Given the description of an element on the screen output the (x, y) to click on. 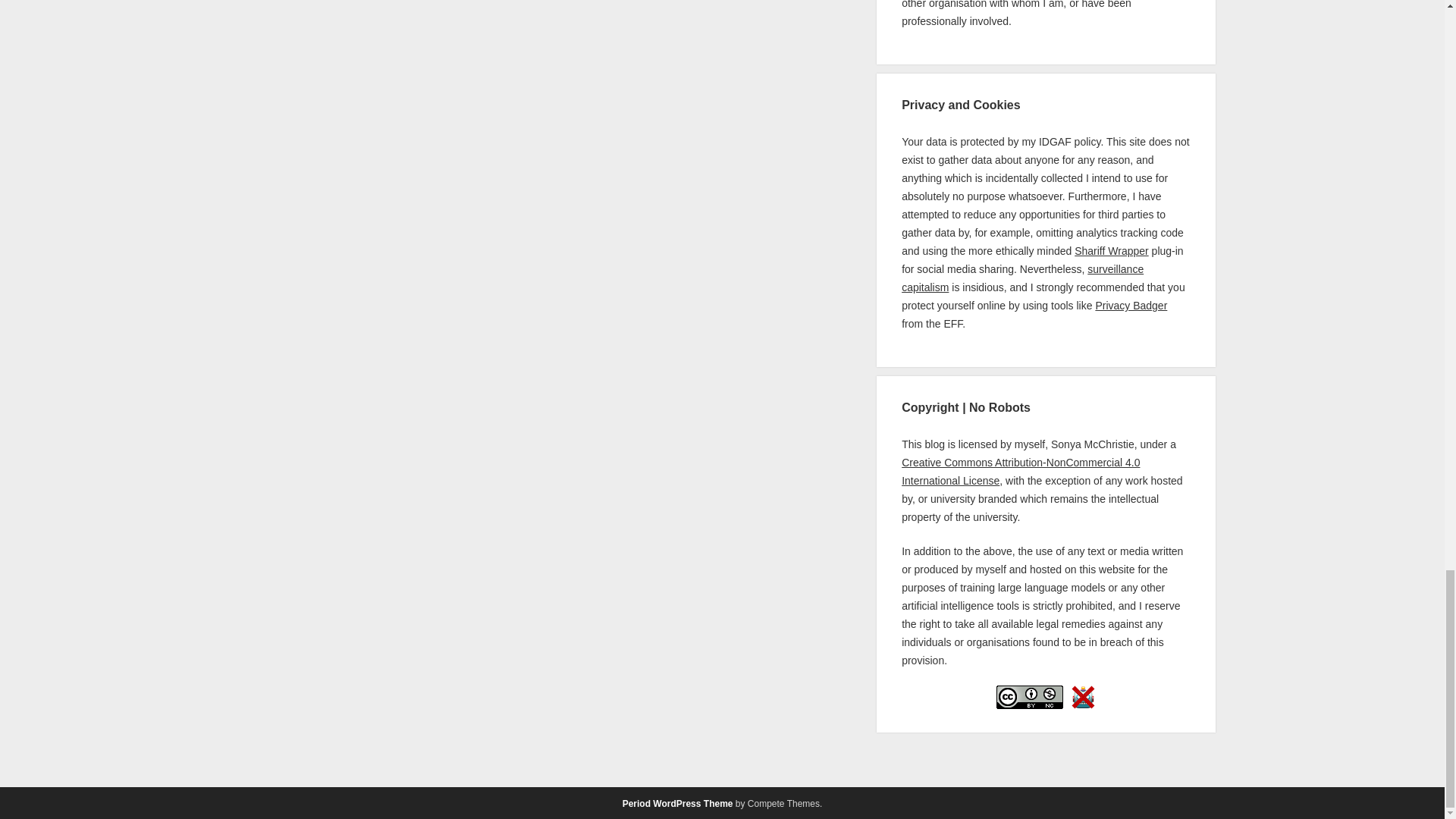
Electronic Frontier Foundation (952, 323)
